Given the description of an element on the screen output the (x, y) to click on. 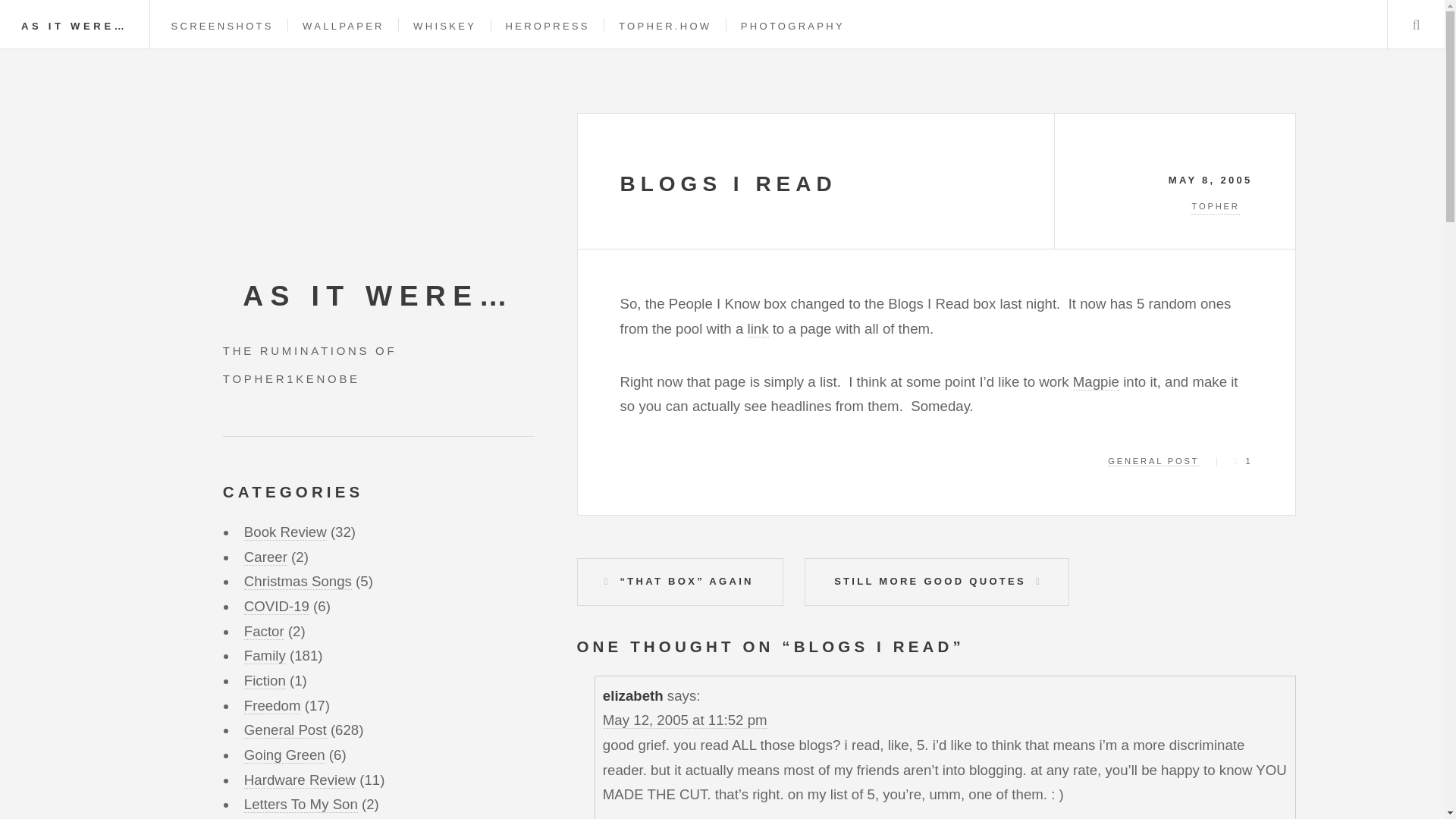
May 12, 2005 at 11:52 pm (684, 719)
Magpie (1096, 381)
TOPHER.HOW (664, 25)
1 (1242, 461)
Freedom (272, 705)
WALLPAPER (343, 25)
General Post (285, 729)
Career (265, 556)
HEROPRESS (547, 25)
PHOTOGRAPHY (792, 25)
Factor (263, 631)
WHISKEY (444, 25)
Family (264, 655)
COVID-19 (276, 606)
SCREENSHOTS (222, 25)
